Given the description of an element on the screen output the (x, y) to click on. 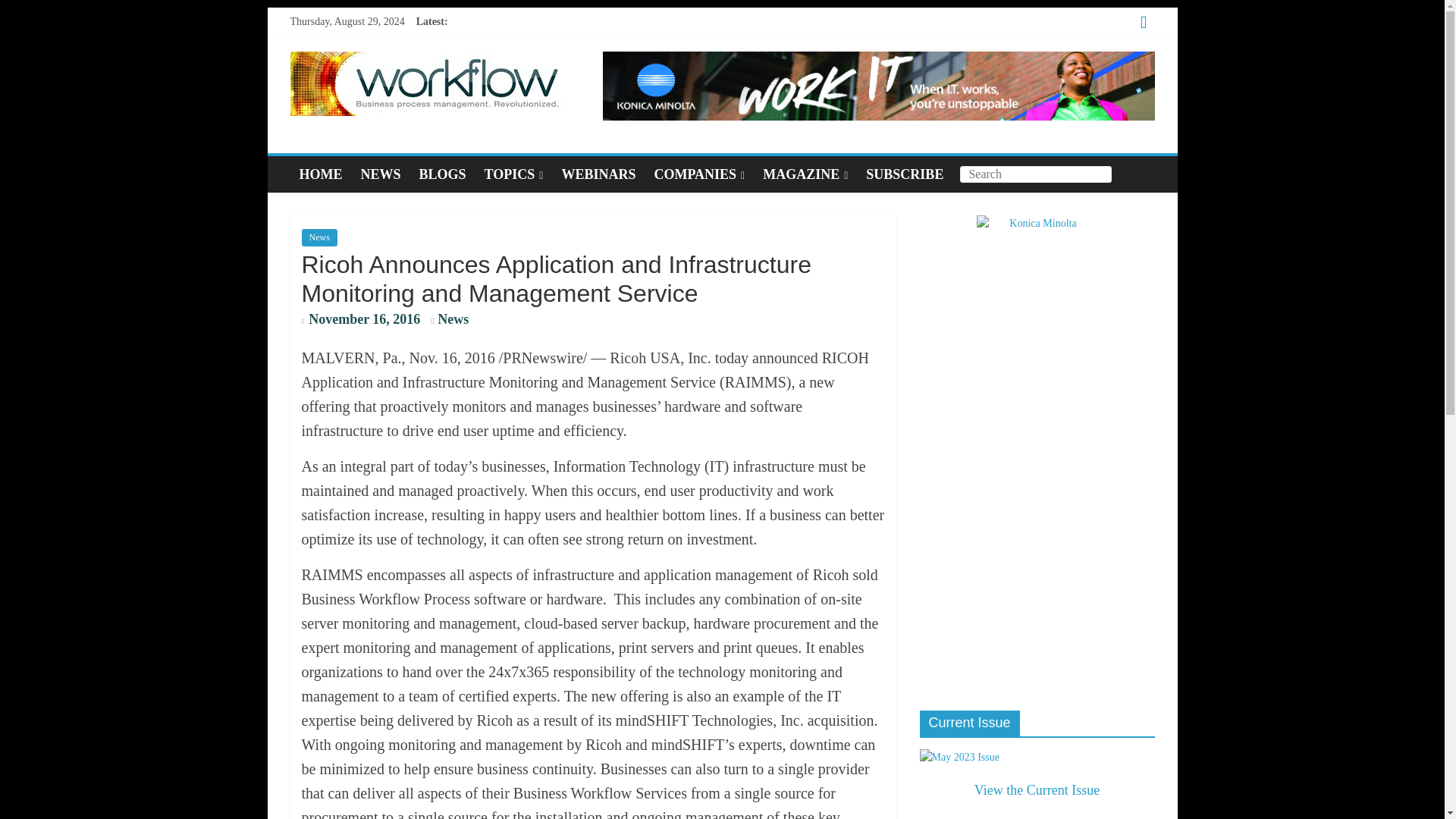
TOPICS (514, 174)
COMPANIES (699, 174)
HOME (319, 174)
5:54 pm (360, 320)
WEBINARS (598, 174)
BLOGS (443, 174)
NEWS (381, 174)
News (453, 319)
